Given the description of an element on the screen output the (x, y) to click on. 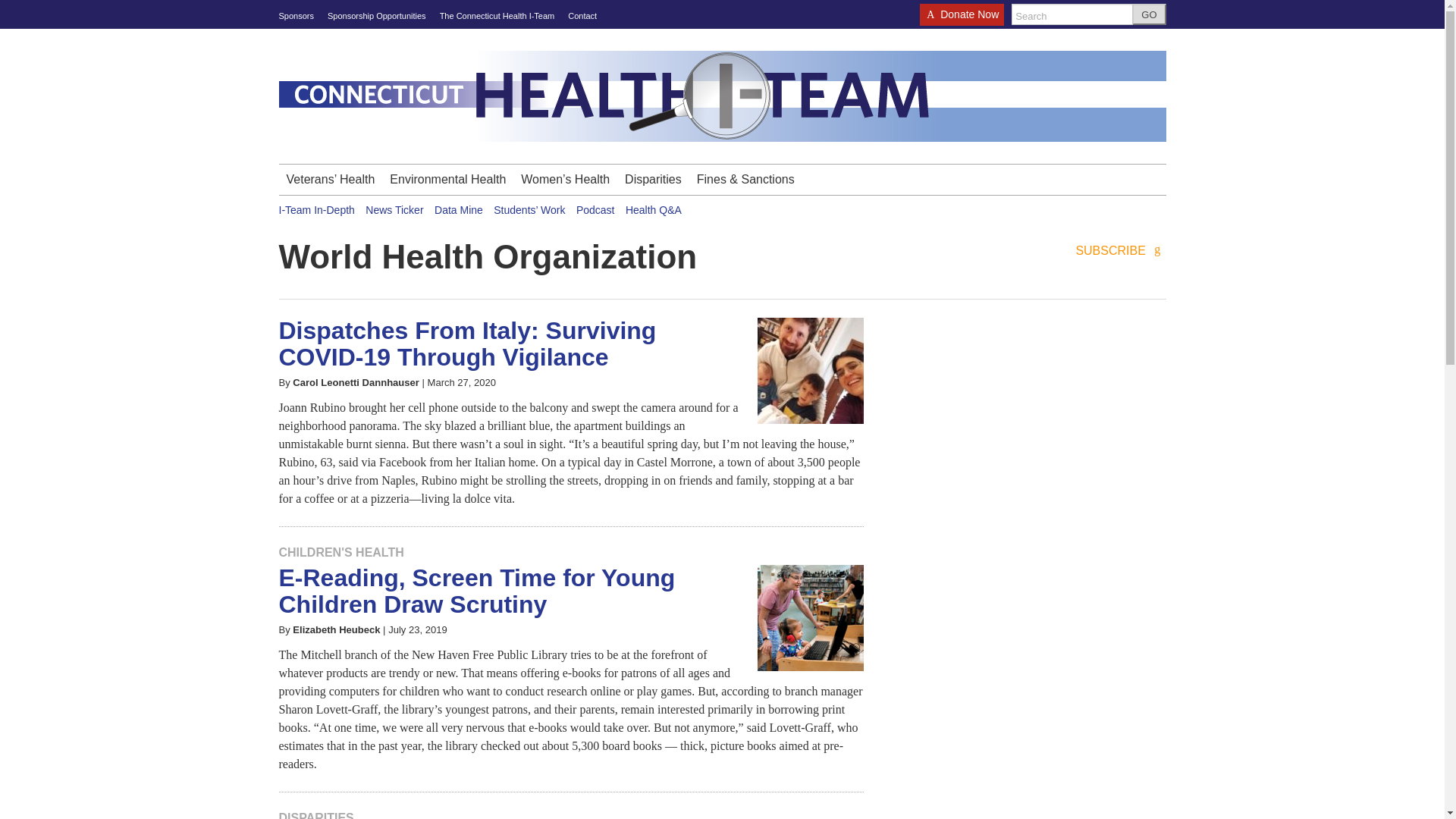
More from Elizabeth Heubeck (336, 629)
Dispatches From Italy: Surviving COVID-19 Through Vigilance (467, 343)
Donate Now (962, 19)
Read Stories in the children's health category (341, 552)
Environmental Health (447, 179)
News Ticker (394, 209)
SUBSCRIBE (1120, 251)
Contact (581, 15)
Read Stories in the Disparities category (316, 815)
Data Mine (458, 209)
